Given the description of an element on the screen output the (x, y) to click on. 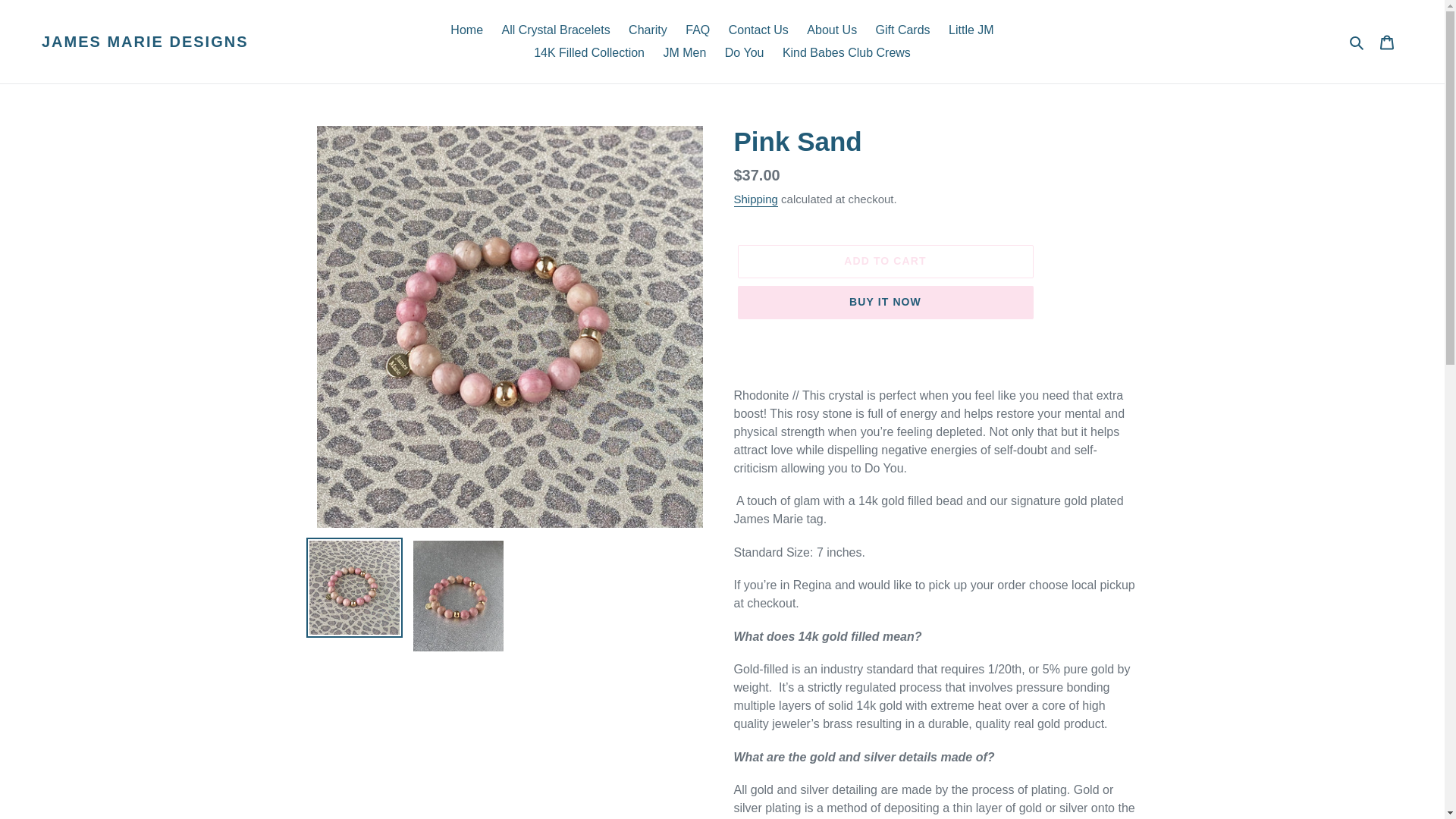
All Crystal Bracelets (556, 29)
Little JM (970, 29)
JAMES MARIE DESIGNS (144, 41)
Charity (648, 29)
Do You (744, 52)
14K Filled Collection (588, 52)
Home (466, 29)
Gift Cards (902, 29)
Shipping (755, 199)
Search (1357, 41)
